Given the description of an element on the screen output the (x, y) to click on. 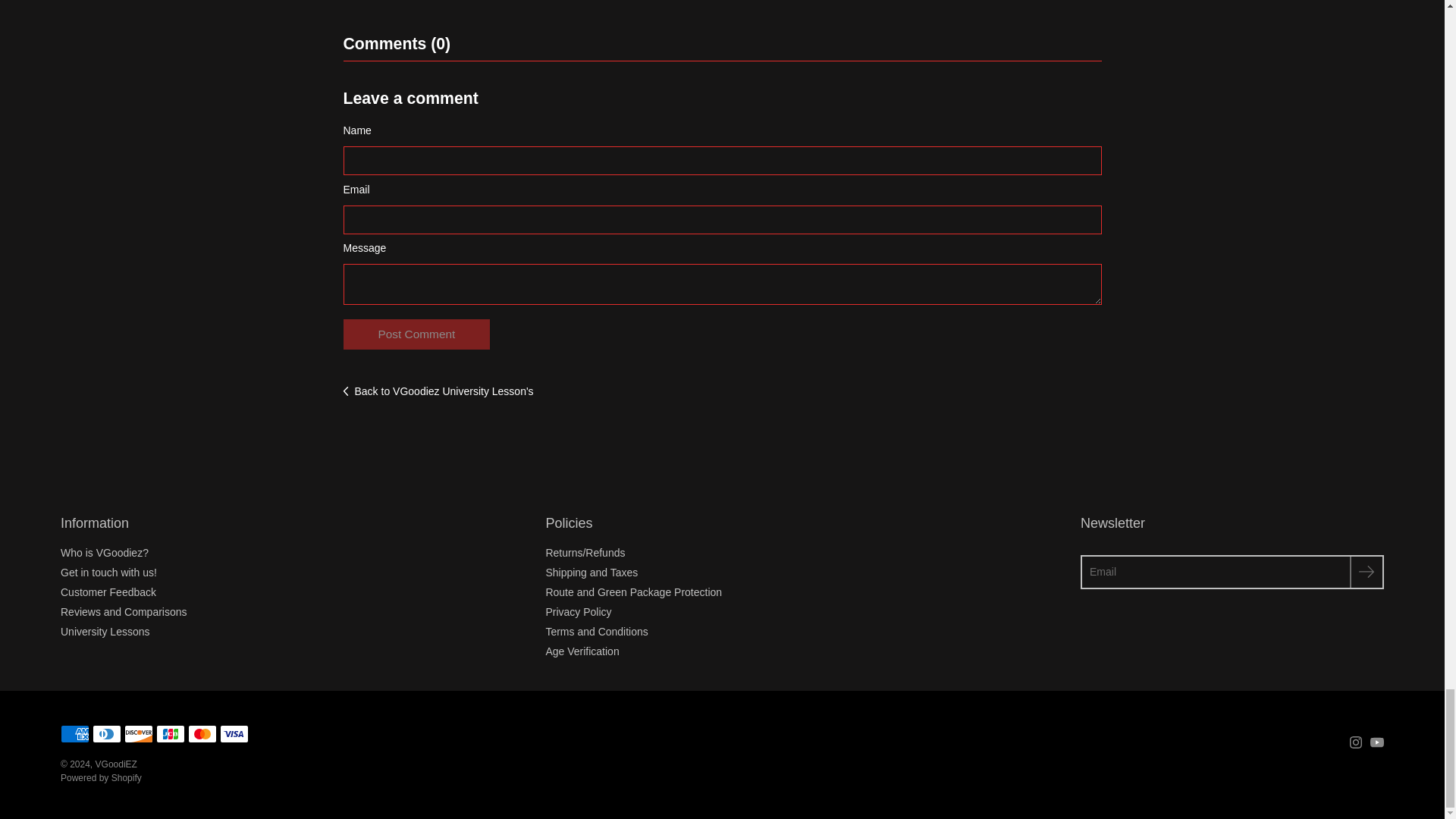
Visa (233, 733)
American Express (74, 733)
JCB (169, 733)
Discover (137, 733)
Mastercard (201, 733)
Post Comment (415, 334)
Diners Club (106, 733)
